Given the description of an element on the screen output the (x, y) to click on. 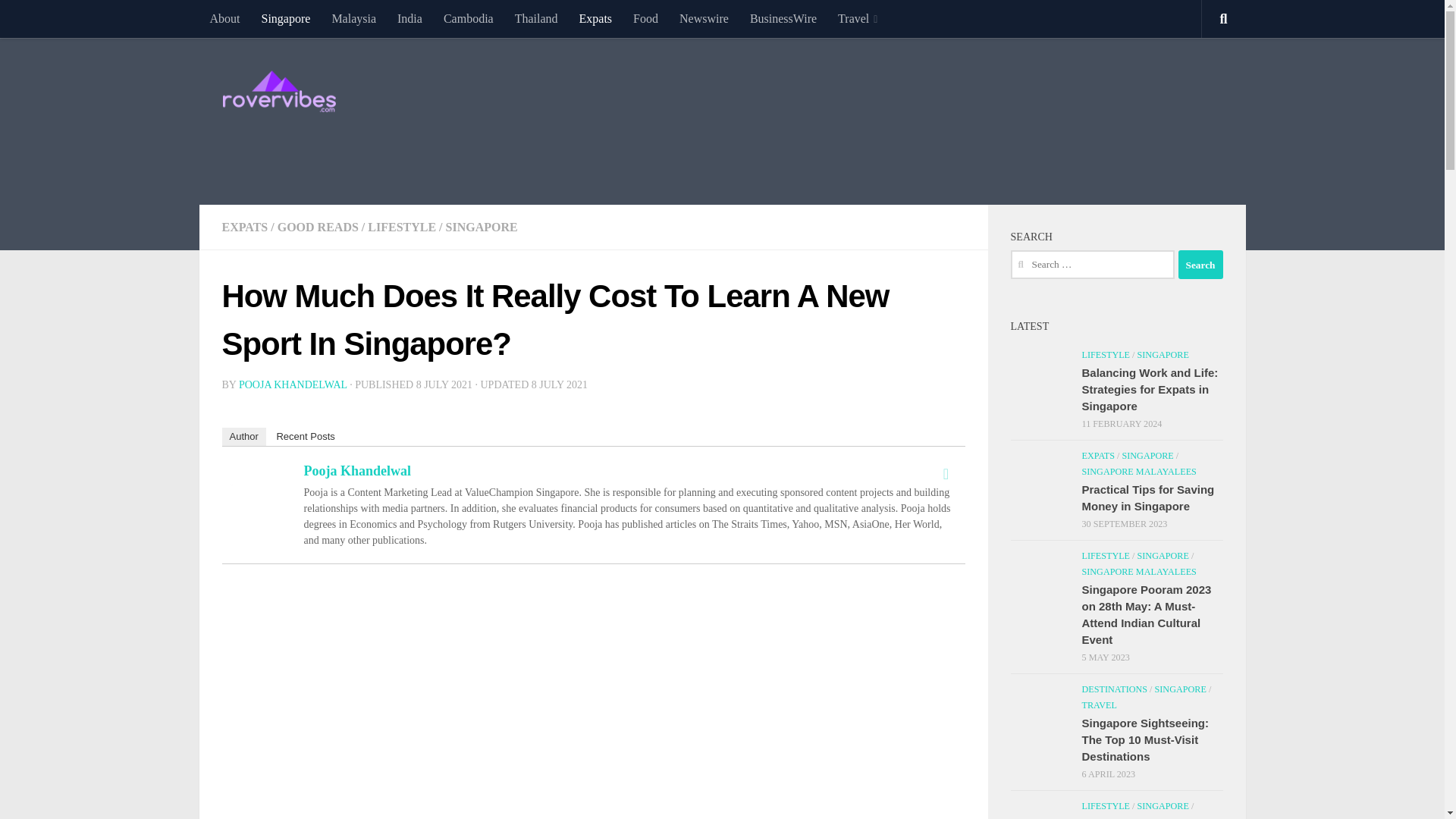
SINGAPORE (481, 226)
Travel (857, 18)
Newswire (703, 18)
Food (645, 18)
EXPATS (244, 226)
Expats (596, 18)
Posts by Pooja Khandelwal (292, 384)
Thailand (536, 18)
Cambodia (467, 18)
GOOD READS (318, 226)
